Given the description of an element on the screen output the (x, y) to click on. 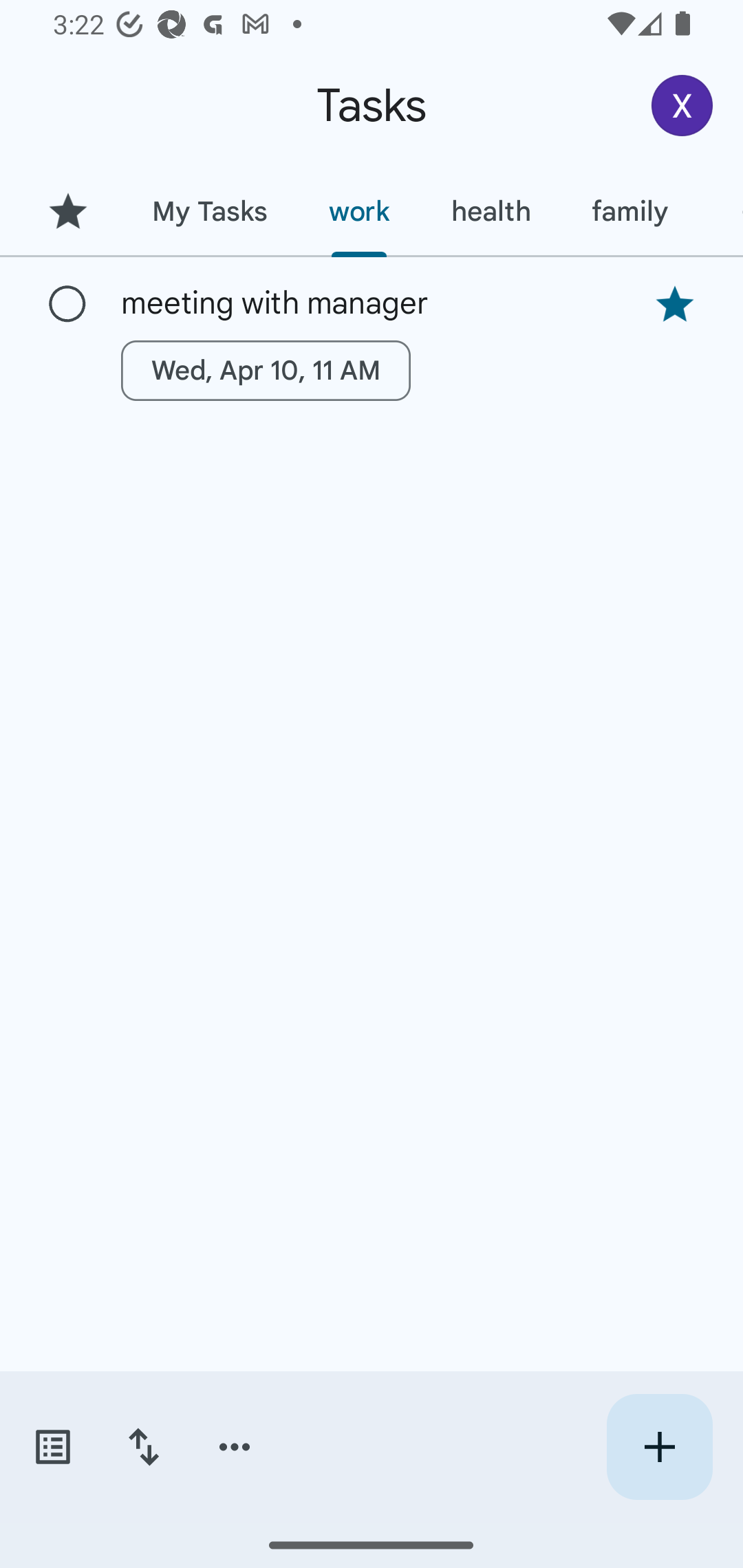
Starred (67, 211)
My Tasks (209, 211)
health (490, 211)
family (629, 211)
Remove star (674, 303)
Mark as complete (67, 304)
Wed, Apr 10, 11 AM (265, 369)
Switch task lists (52, 1447)
Create new task (659, 1446)
Change sort order (143, 1446)
More options (234, 1446)
